Given the description of an element on the screen output the (x, y) to click on. 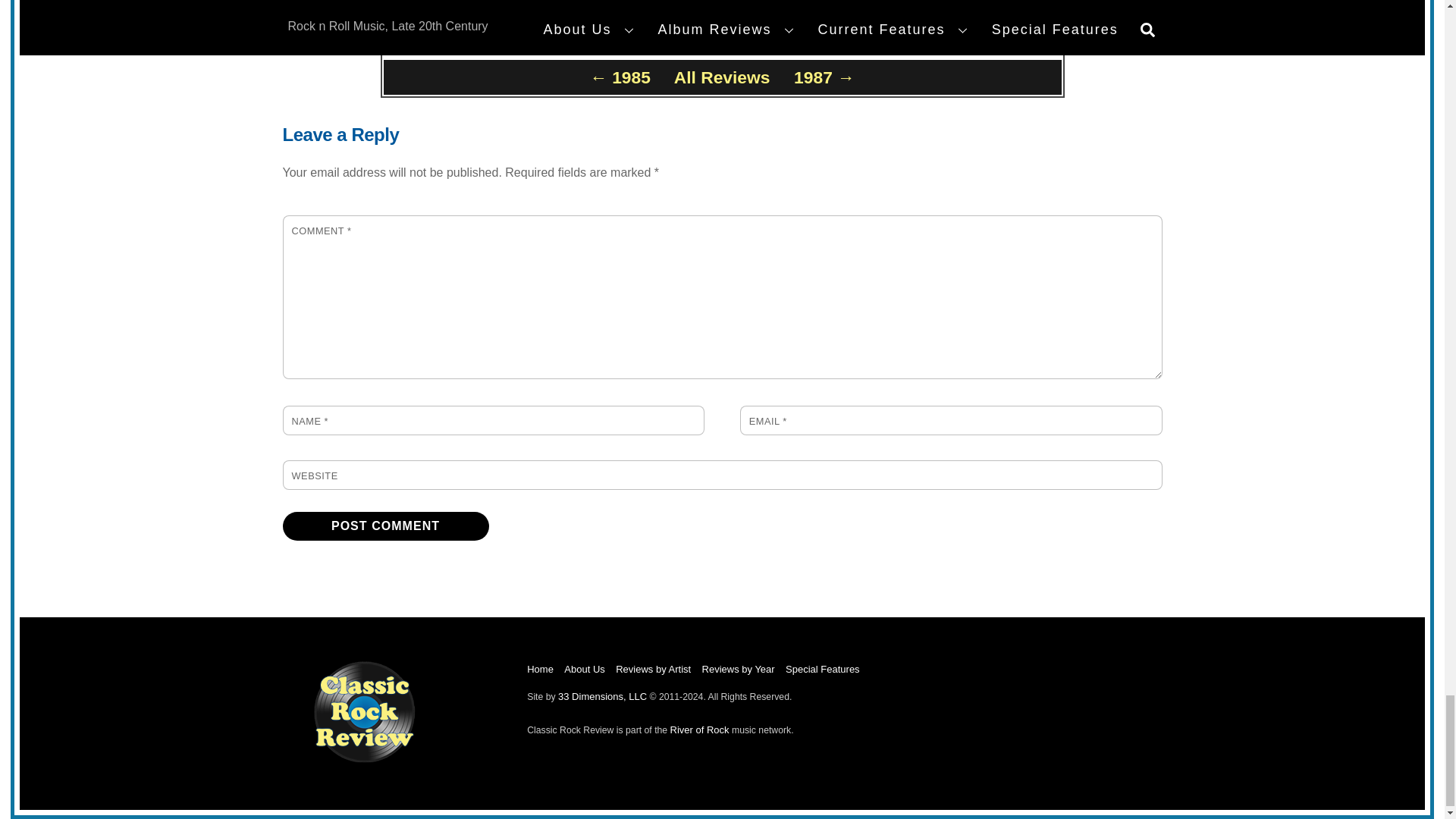
Album Reviews Listed by Artist Name (652, 668)
Post Comment (384, 526)
Album Reviews Listed by Year Released (737, 668)
Classic Rock Review (364, 758)
